Given the description of an element on the screen output the (x, y) to click on. 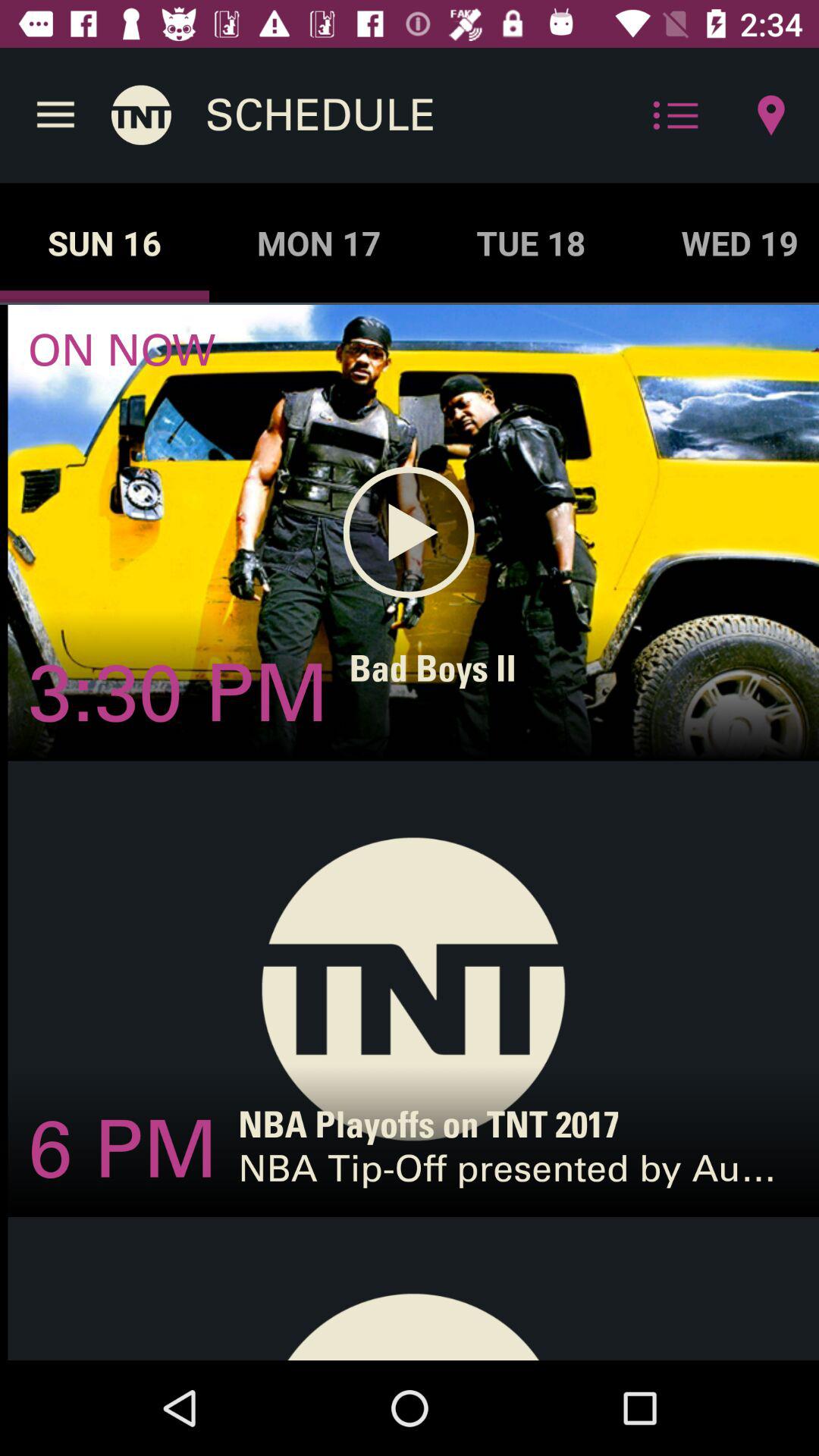
launch the icon above the sun 16 app (141, 115)
